Given the description of an element on the screen output the (x, y) to click on. 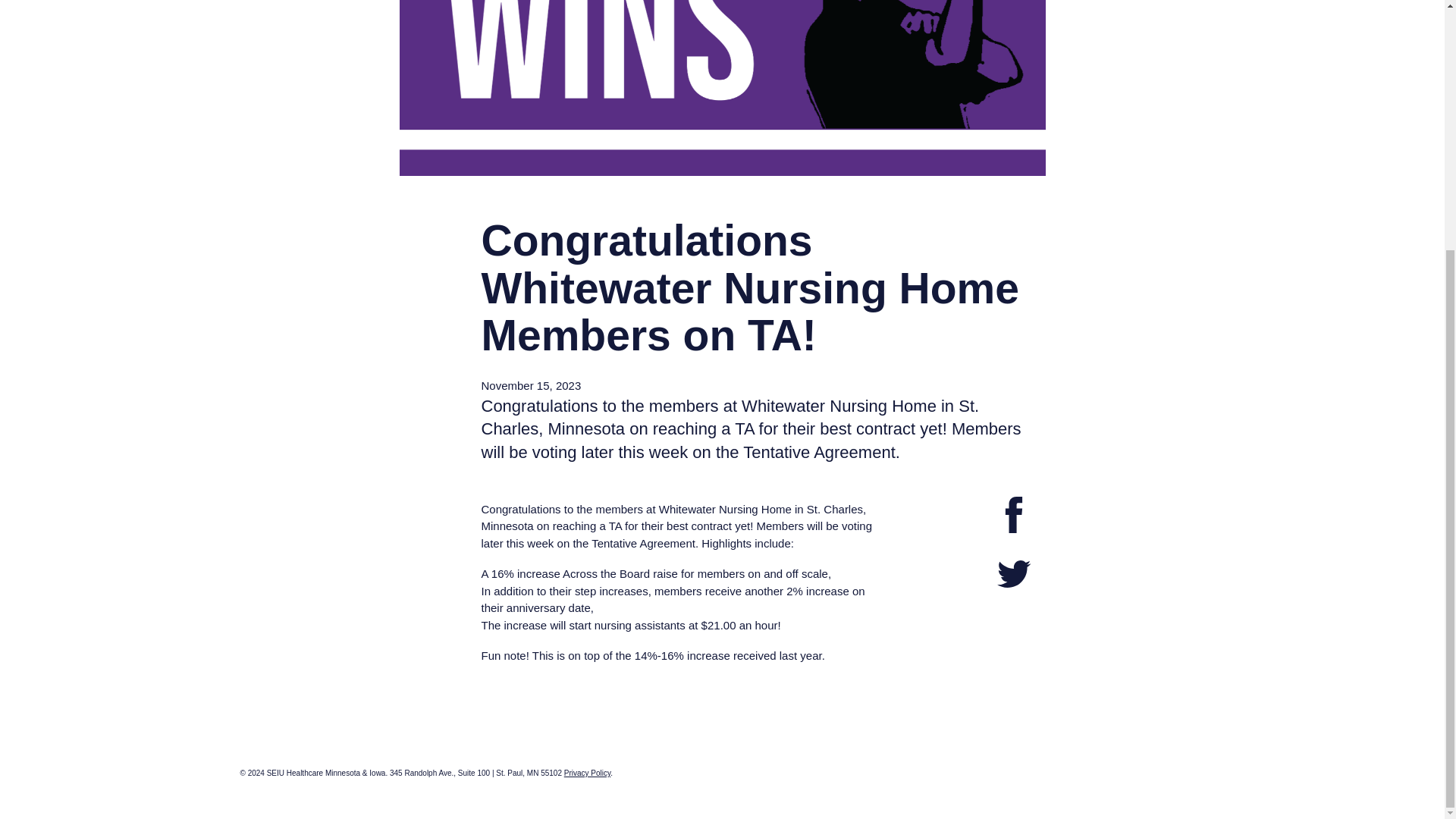
Privacy Policy (587, 773)
Privacy Policy (587, 773)
